Given the description of an element on the screen output the (x, y) to click on. 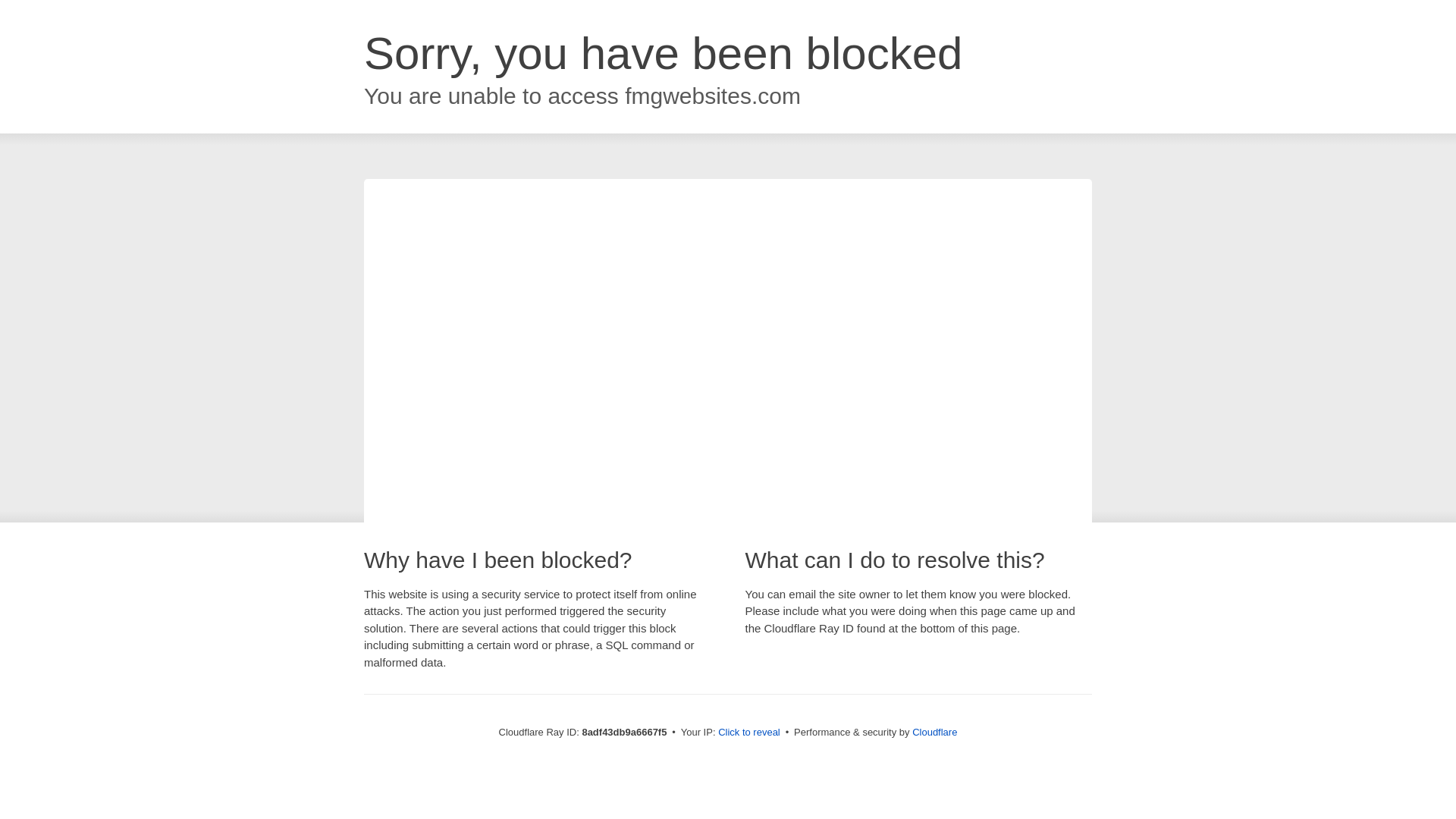
Cloudflare (934, 731)
Click to reveal (748, 732)
